Given the description of an element on the screen output the (x, y) to click on. 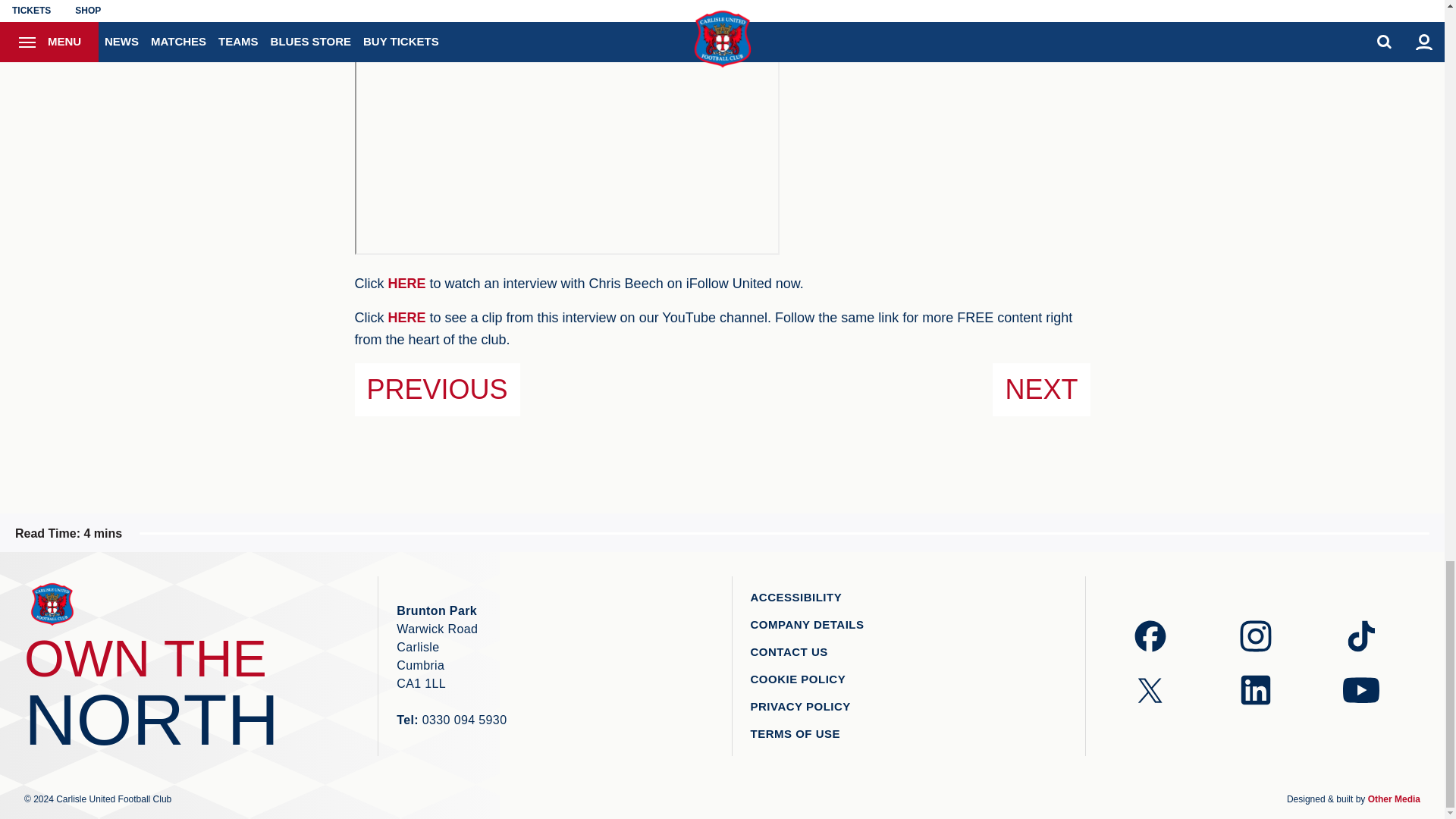
iFollow United (407, 283)
YouTube (407, 317)
